Given the description of an element on the screen output the (x, y) to click on. 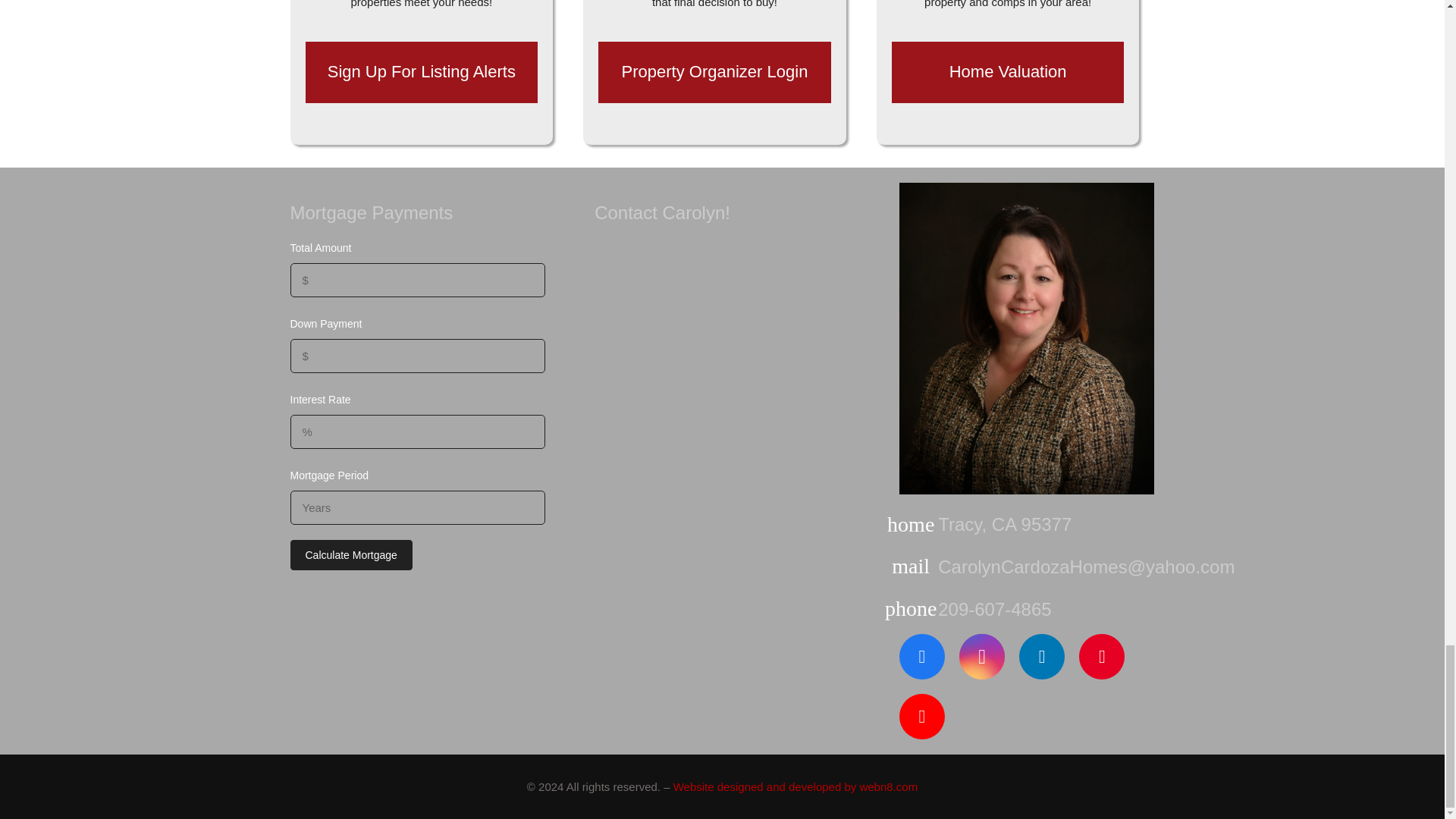
Calculate Mortgage (350, 554)
